Given the description of an element on the screen output the (x, y) to click on. 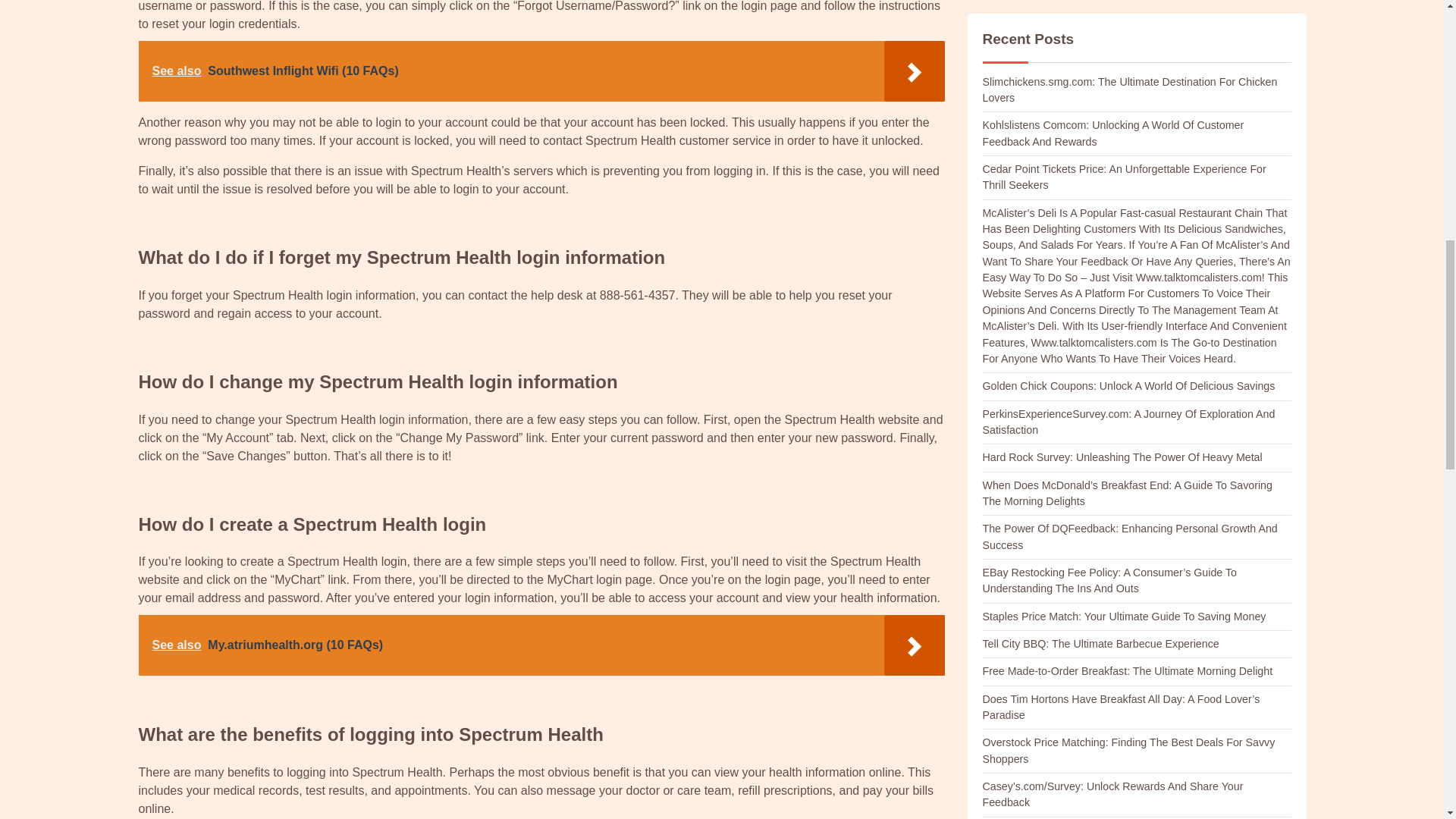
Carls Jr Feedback: Satisfying The Cravings Of Burger Lovers (1128, 79)
Survey: Unlocking The Secrets Of White Castle (1095, 293)
Zaxbyslistens.com: A Journey Through Flavor And Feedback (1127, 133)
